Given the description of an element on the screen output the (x, y) to click on. 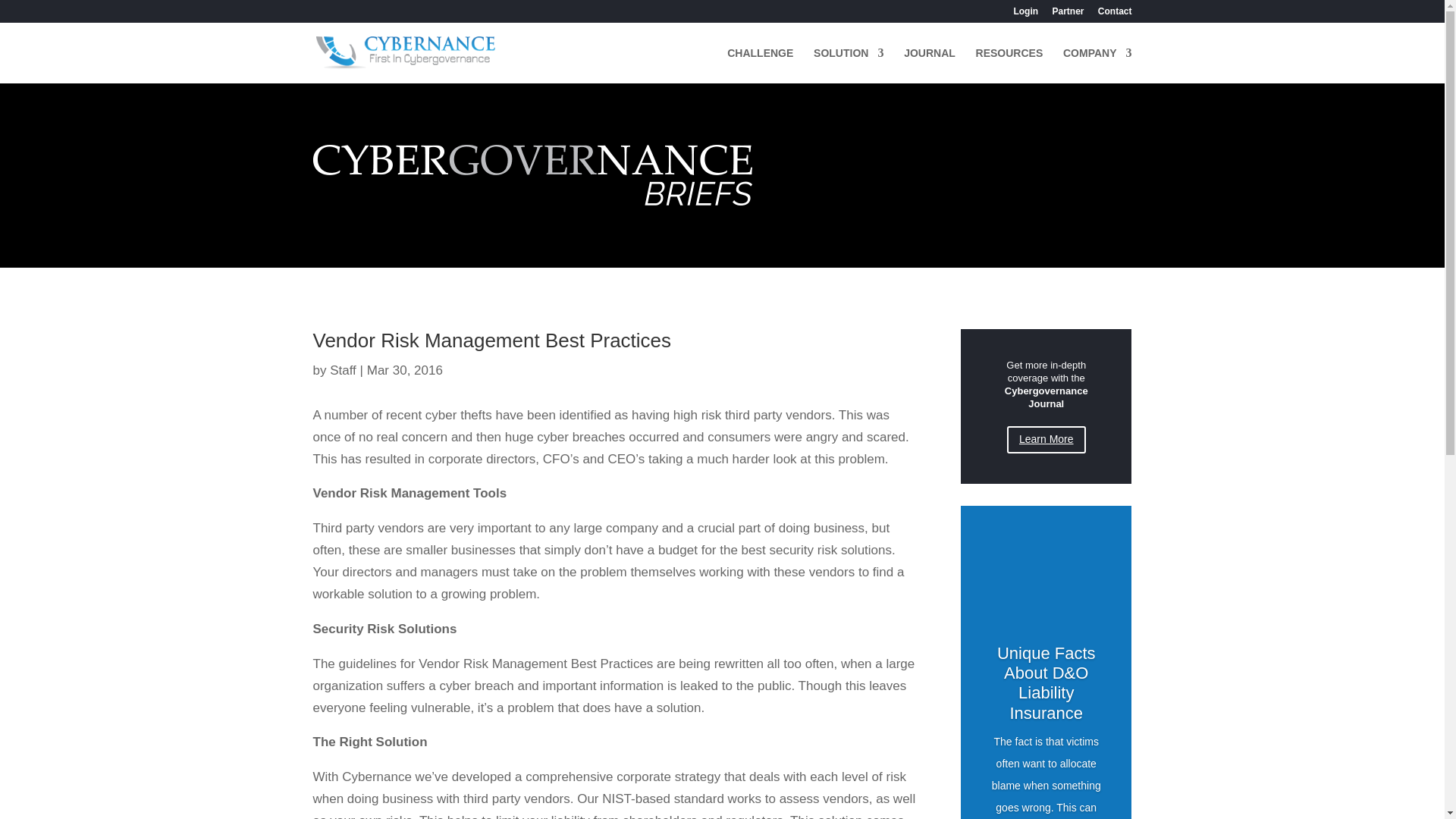
Login (1025, 14)
JOURNAL (929, 65)
Learn More (1046, 439)
Staff (343, 370)
Posts by Staff (343, 370)
SOLUTION (848, 65)
Partner (1067, 14)
Contact (1114, 14)
COMPANY (1097, 65)
RESOURCES (1009, 65)
